Given the description of an element on the screen output the (x, y) to click on. 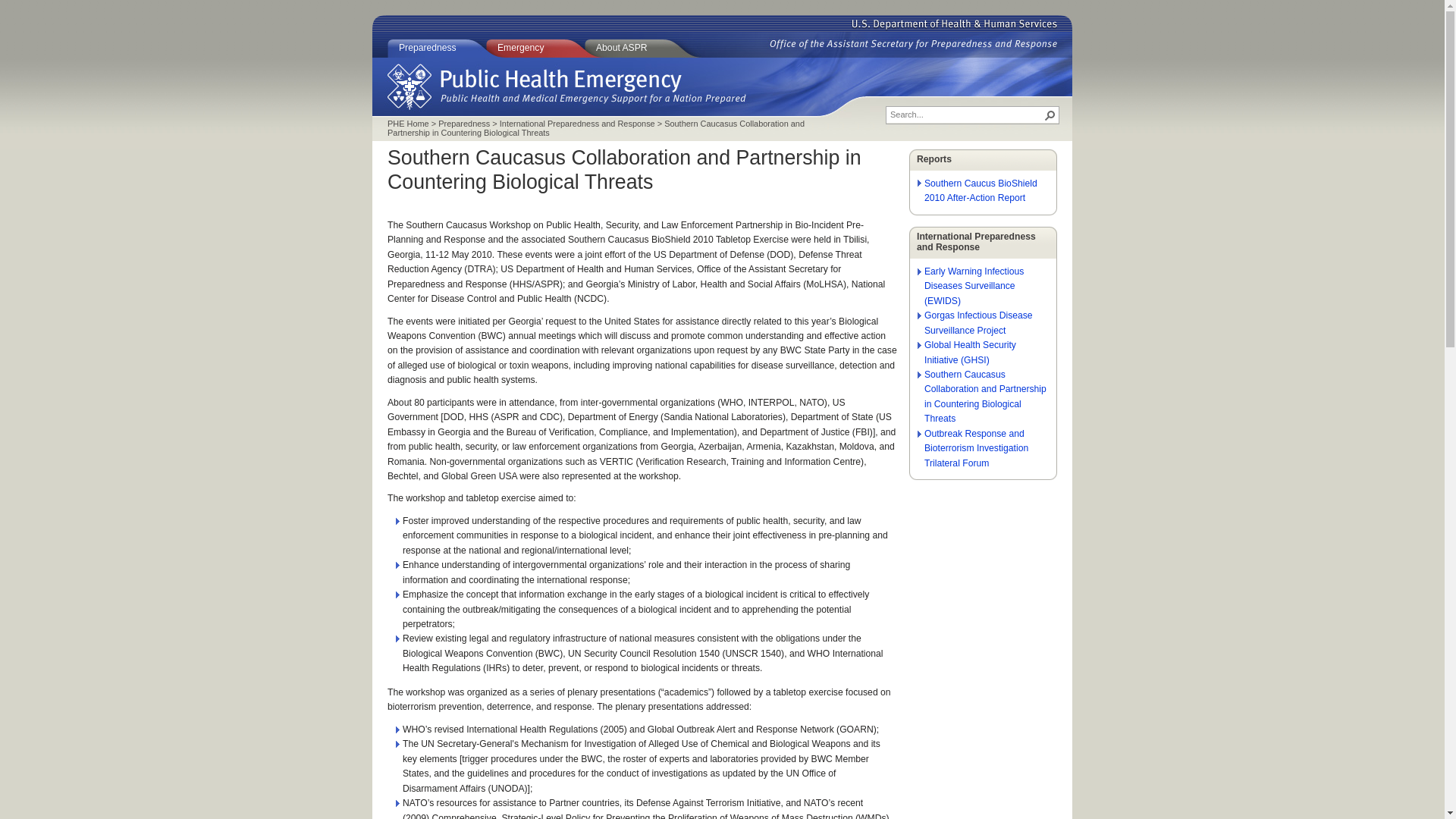
Search (1050, 115)
PHE Home (408, 122)
Gorgas Infectious Disease Surveillance Project (978, 322)
Preparedness (463, 122)
Search... (965, 114)
Preparedness (436, 48)
About ASPR (643, 48)
Southern Caucus BioShield 2010 After-Action Report (980, 190)
